Given the description of an element on the screen output the (x, y) to click on. 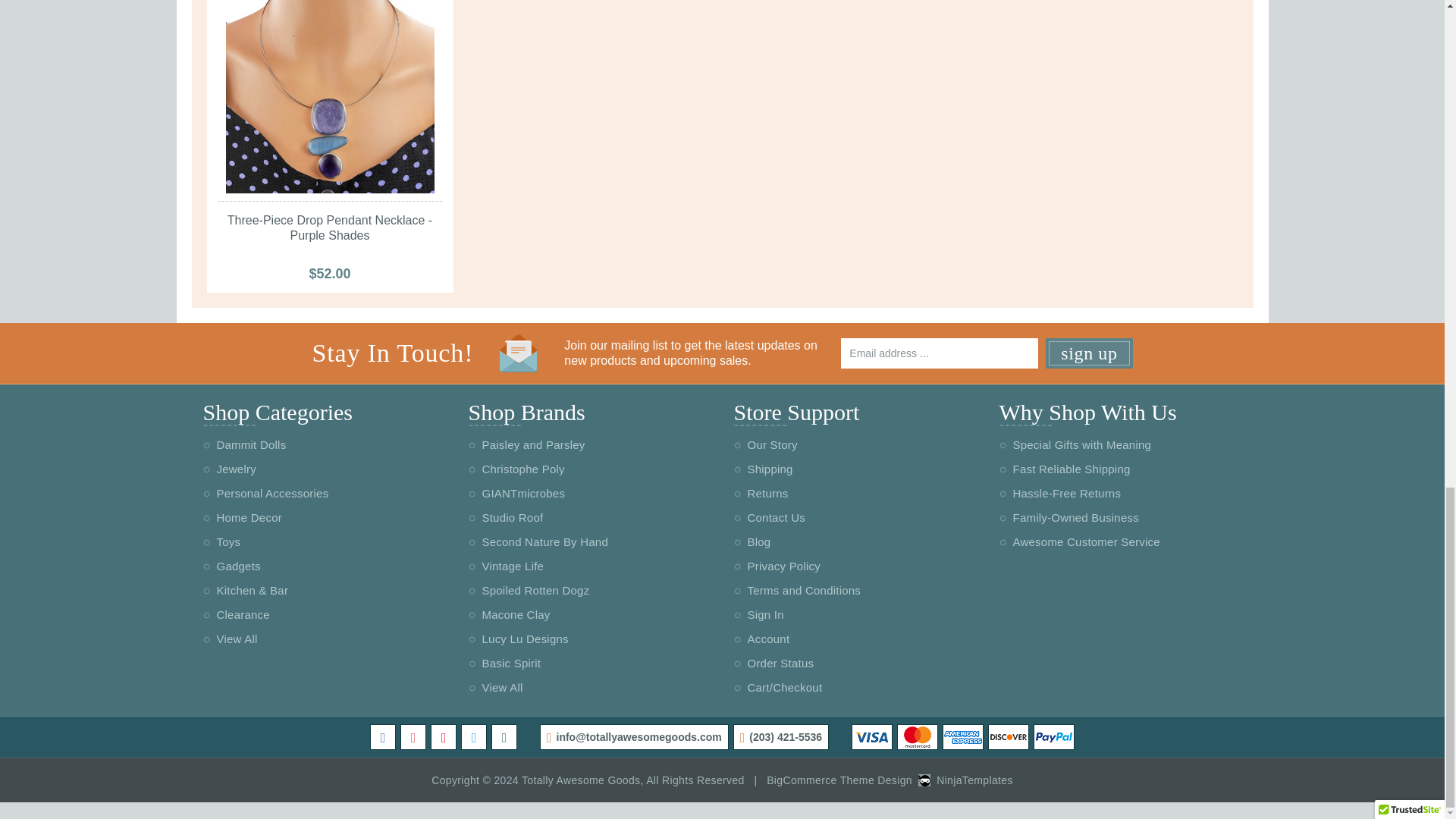
Sign Up (1088, 353)
Three-Piece Drop Pendant Necklace - Purple Shades (329, 96)
